Given the description of an element on the screen output the (x, y) to click on. 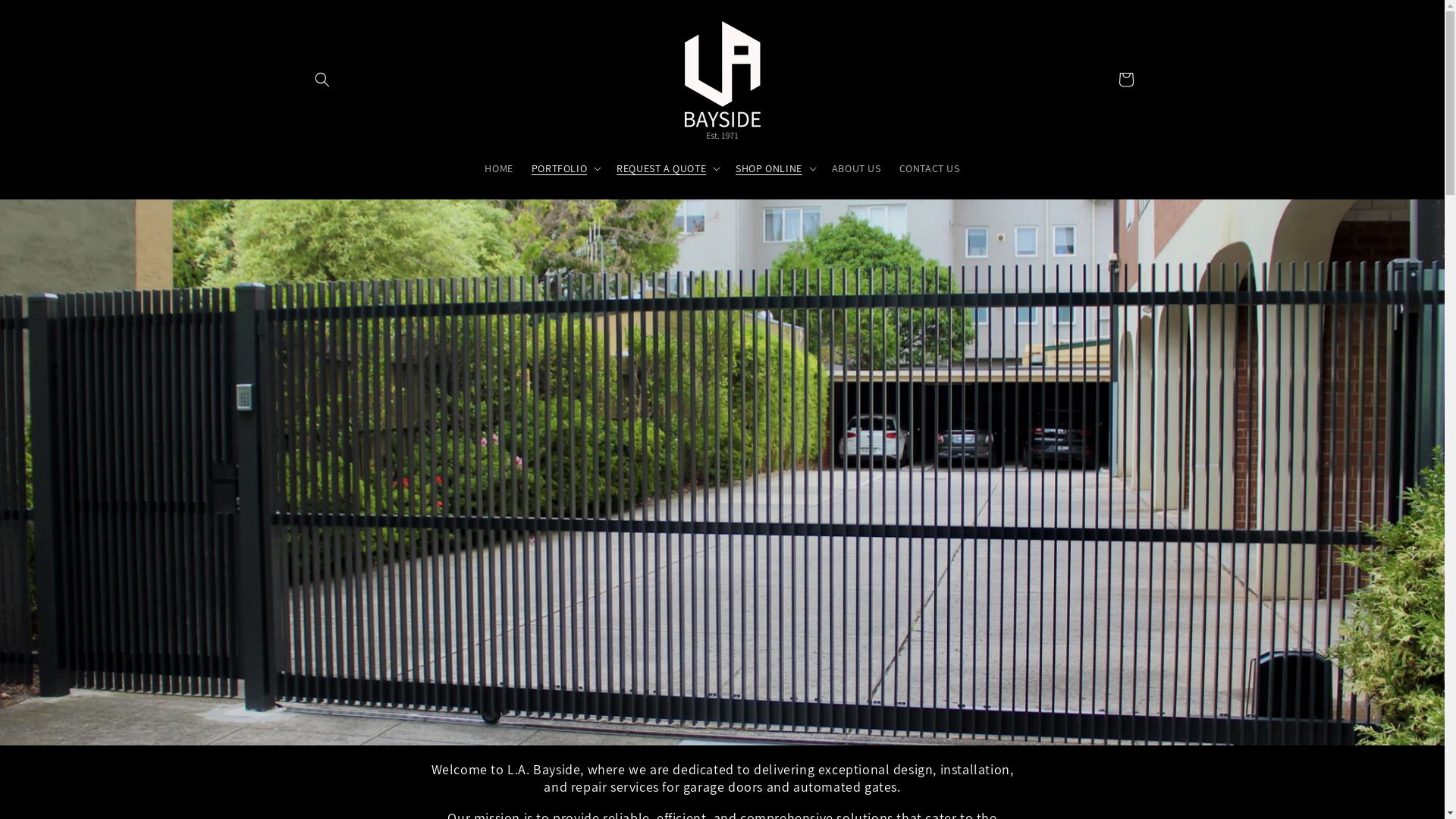
SHOP ONLINE Element type: text (768, 167)
Cart Element type: text (1125, 79)
CONTACT US Element type: text (929, 167)
ABOUT US Element type: text (856, 167)
HOME Element type: text (498, 167)
PORTFOLIO Element type: text (558, 167)
REQUEST A QUOTE Element type: text (661, 167)
